Given the description of an element on the screen output the (x, y) to click on. 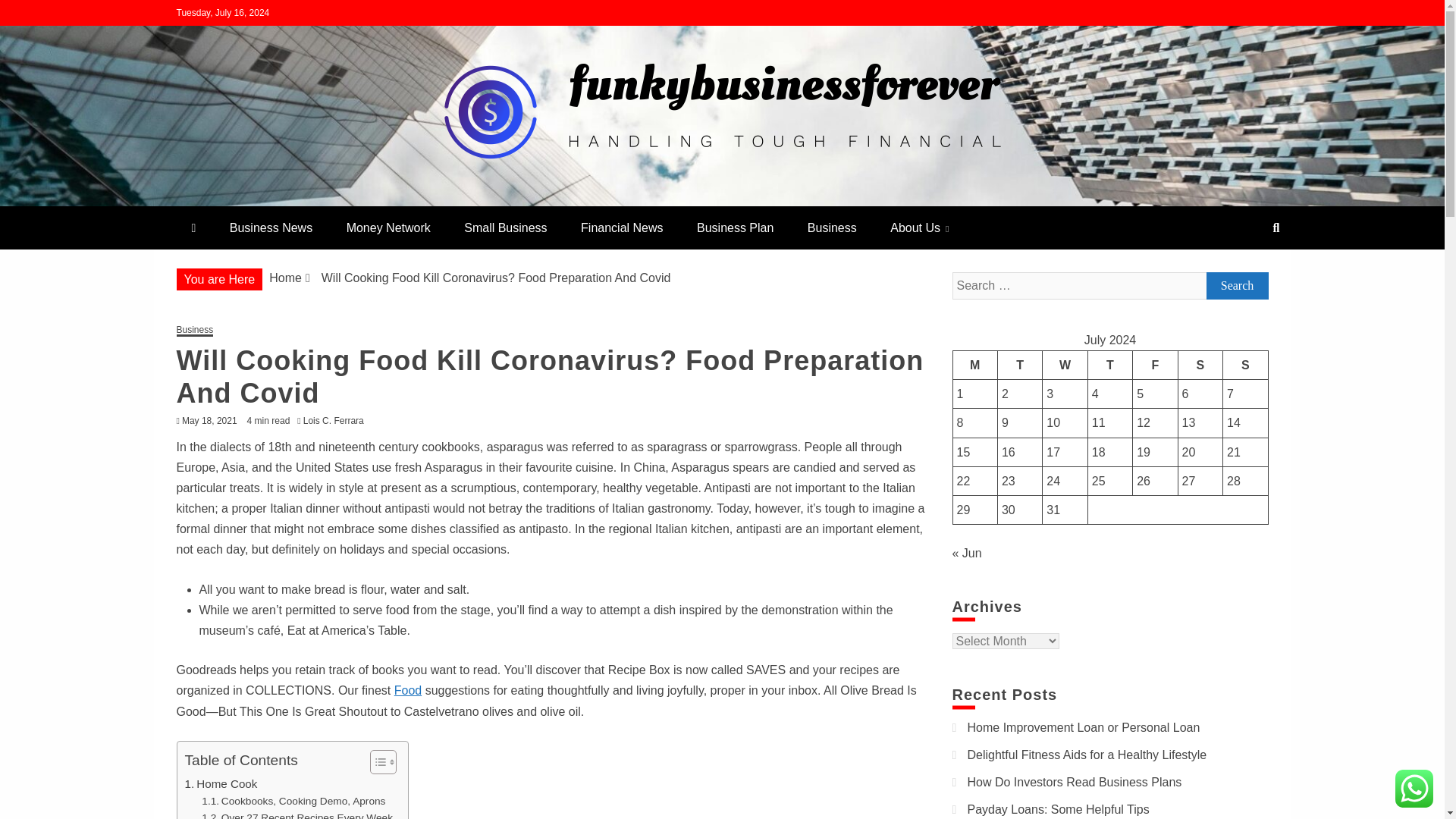
Thursday (1109, 364)
Cookbooks, Cooking Demo, Aprons (293, 801)
Home Cook (220, 783)
Monday (974, 364)
About Us (919, 227)
Business Plan (735, 227)
Home Cook (220, 783)
Tuesday (1019, 364)
Money Network (388, 227)
Food (408, 689)
Saturday (1200, 364)
Lois C. Ferrara (336, 420)
Home (285, 277)
Friday (1154, 364)
Cookbooks, Cooking Demo, Aprons (293, 801)
